Given the description of an element on the screen output the (x, y) to click on. 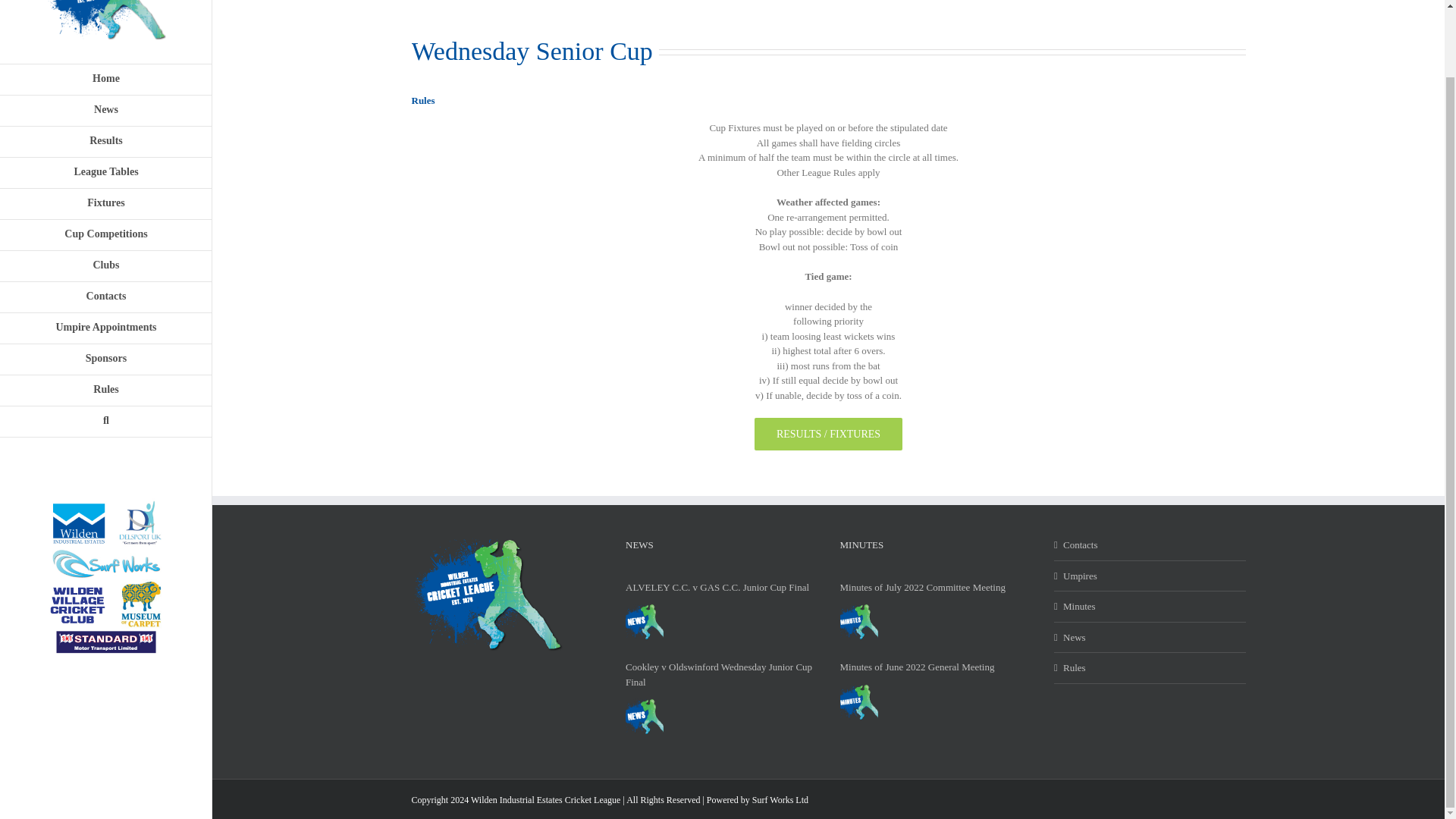
Home (106, 79)
Clubs (106, 265)
Umpire Appointments (106, 327)
Cup Competitions (106, 235)
News (106, 110)
Fixtures (106, 204)
Search (106, 421)
Cookley v Oldswinford Wednesday Junior Cup Final (644, 715)
Contacts (106, 296)
